Given the description of an element on the screen output the (x, y) to click on. 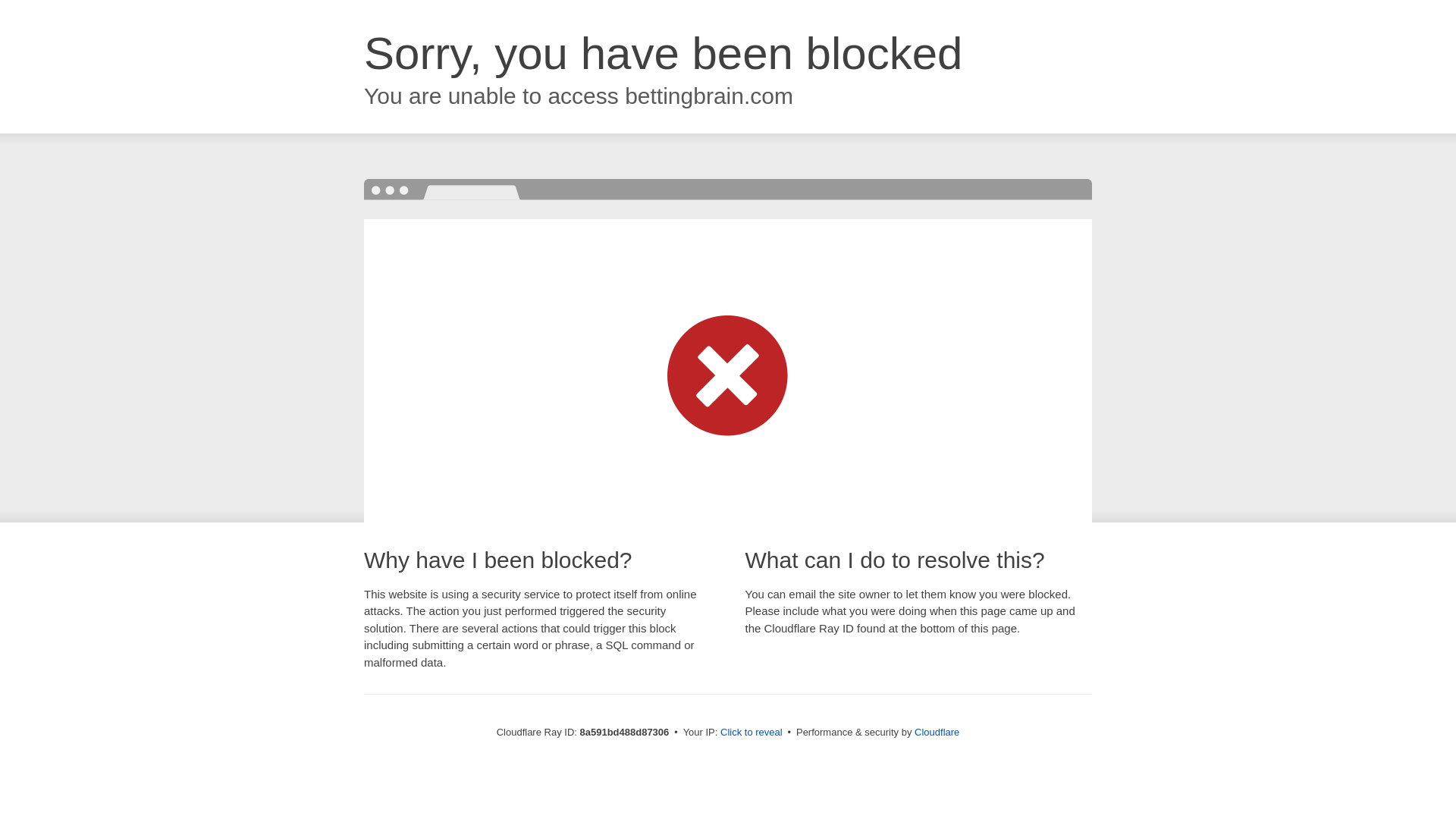
Cloudflare (936, 731)
Click to reveal (751, 732)
